Given the description of an element on the screen output the (x, y) to click on. 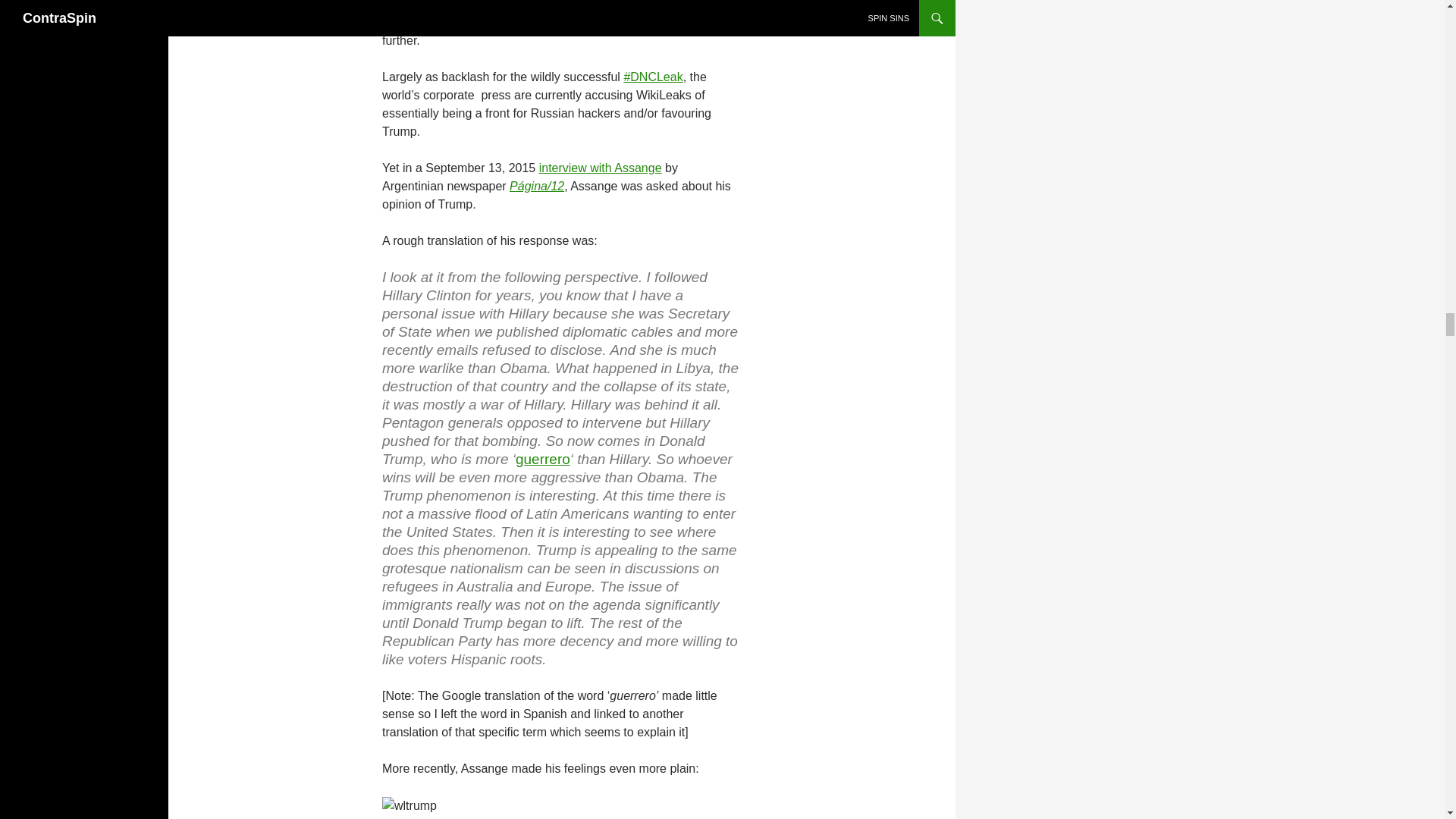
Yo lo miro desde la siguiente perspectiva. (513, 277)
